Given the description of an element on the screen output the (x, y) to click on. 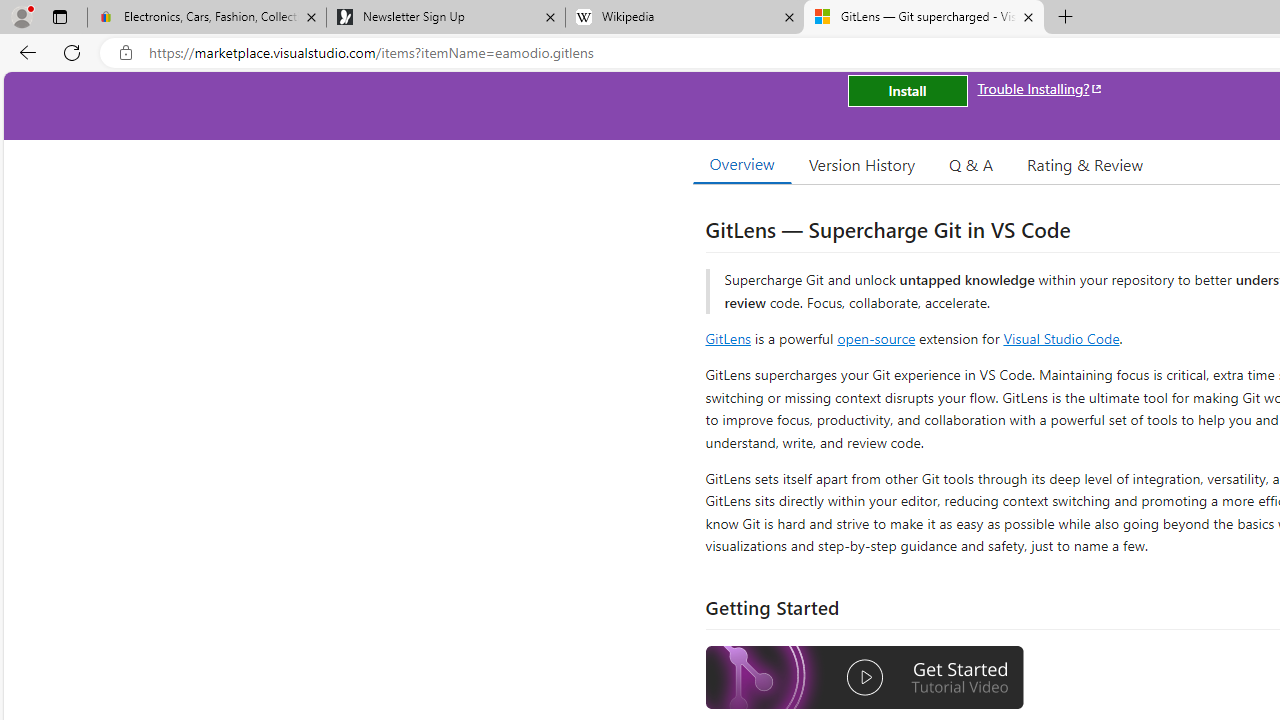
Version History (862, 164)
Q & A (971, 164)
Overview (742, 164)
Watch the GitLens Getting Started video (865, 679)
Wikipedia (684, 17)
Install (907, 90)
GitLens (728, 337)
Electronics, Cars, Fashion, Collectibles & More | eBay (207, 17)
open-source (876, 337)
Watch the GitLens Getting Started video (865, 678)
